Given the description of an element on the screen output the (x, y) to click on. 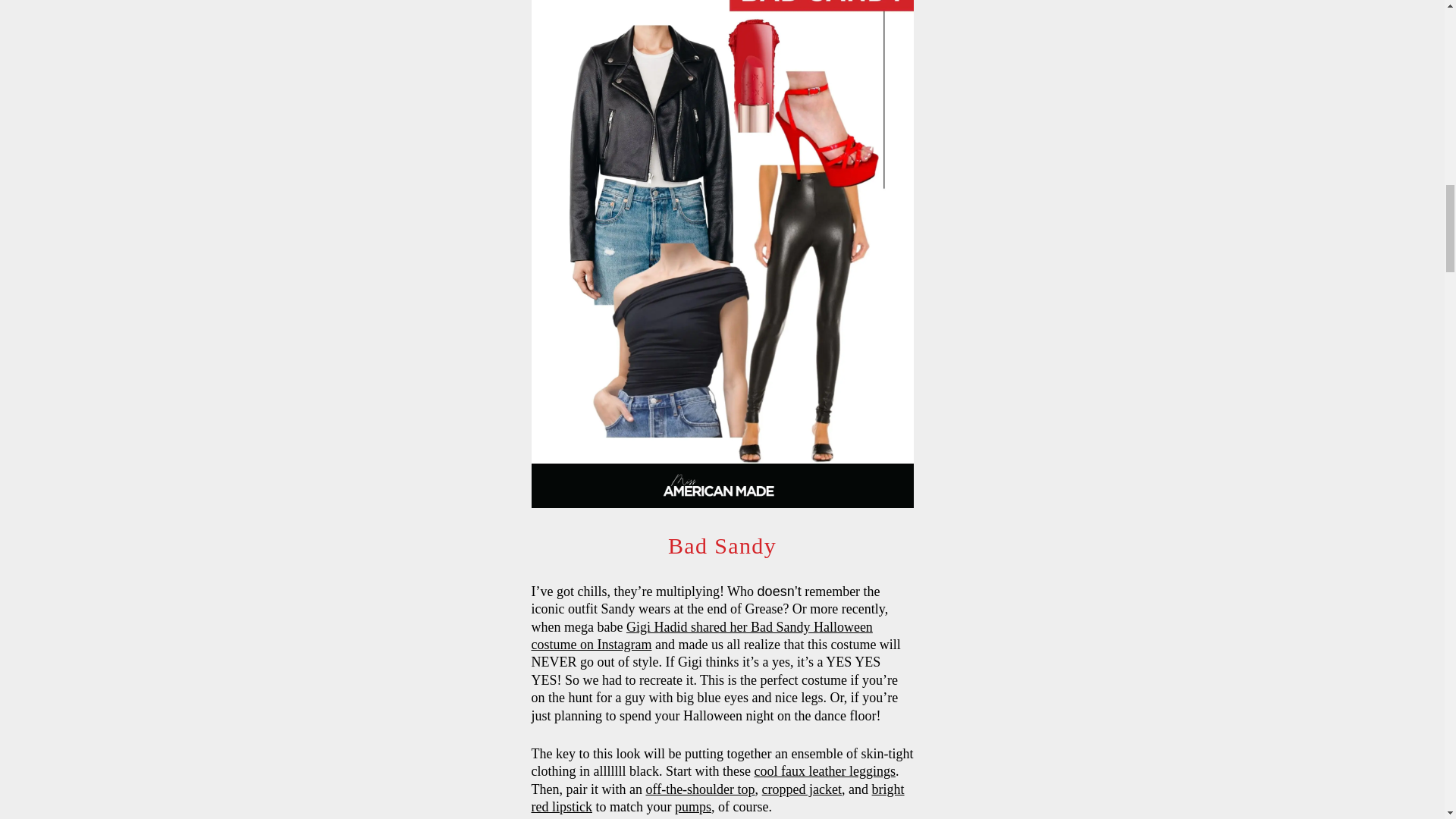
pumps (693, 806)
cropped jacket (801, 789)
bright red lipstick (717, 798)
cool faux leather leggings (824, 770)
off-the-shoulder top (699, 789)
